Given the description of an element on the screen output the (x, y) to click on. 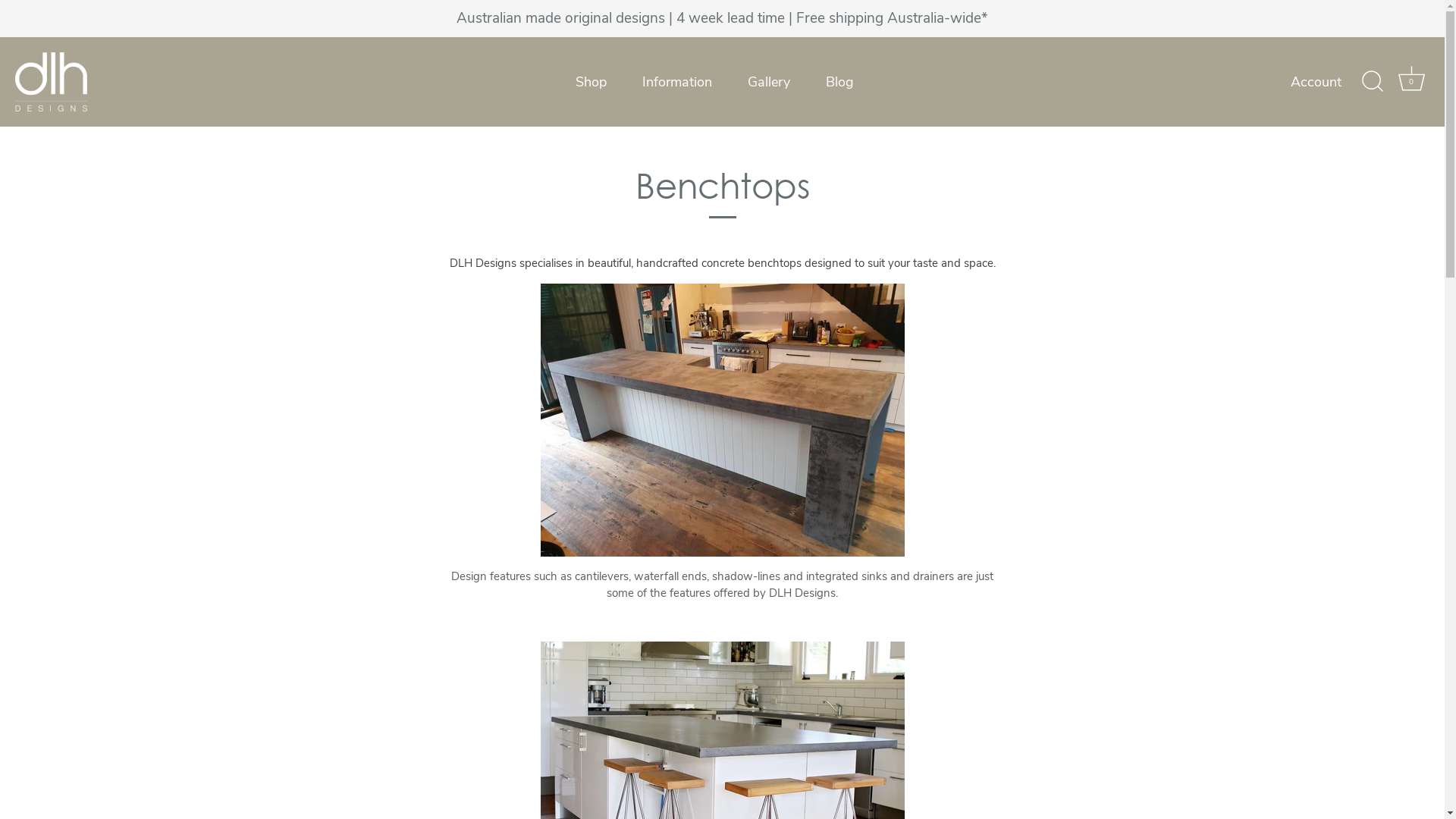
Gallery Element type: text (768, 81)
Cart
0 Element type: text (1410, 81)
Blog Element type: text (839, 81)
Shop Element type: text (590, 81)
Account Element type: text (1329, 82)
Information Element type: text (676, 81)
